Given the description of an element on the screen output the (x, y) to click on. 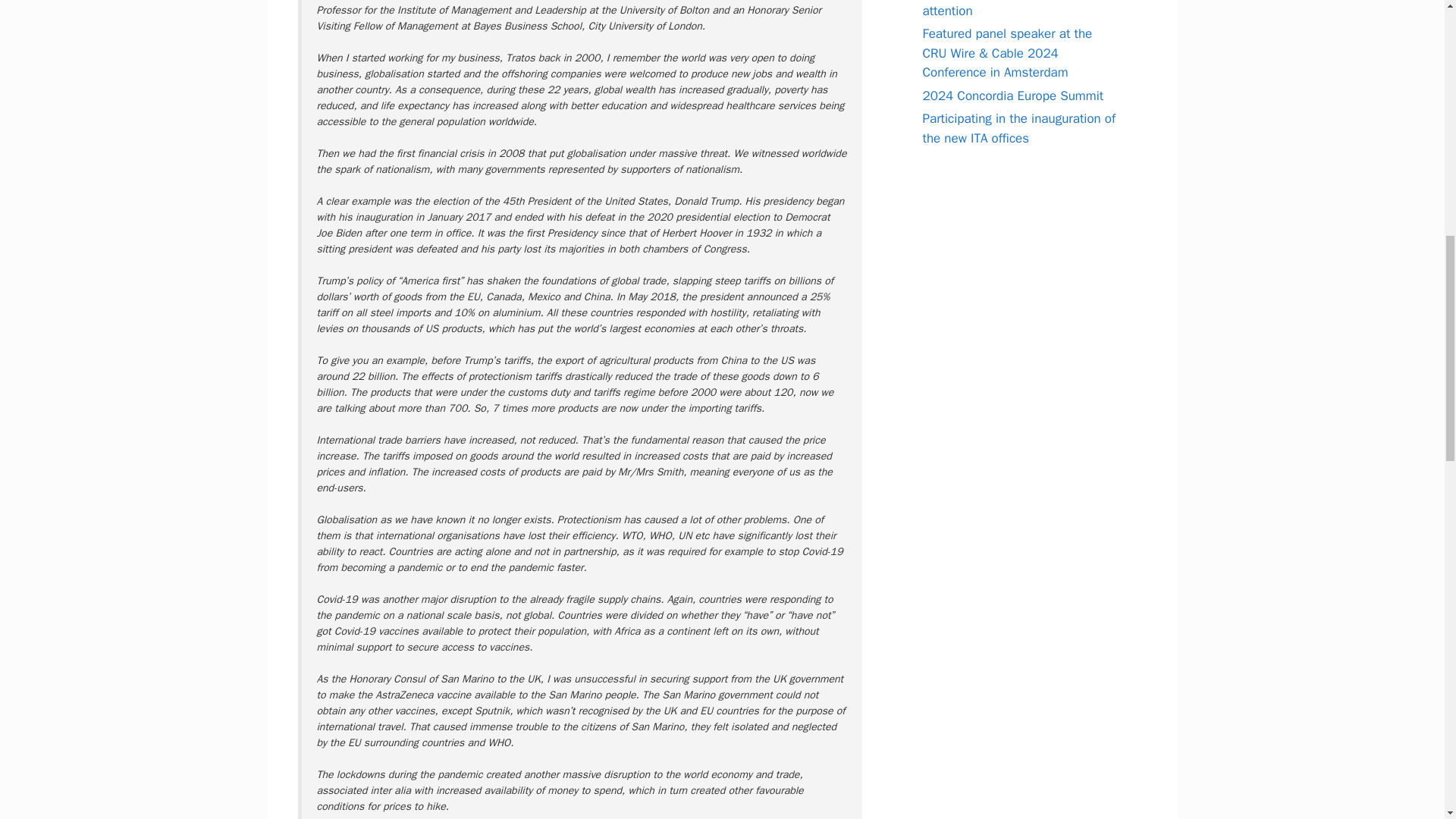
My latest book draws international attention (1018, 9)
Scroll back to top (1406, 720)
